Given the description of an element on the screen output the (x, y) to click on. 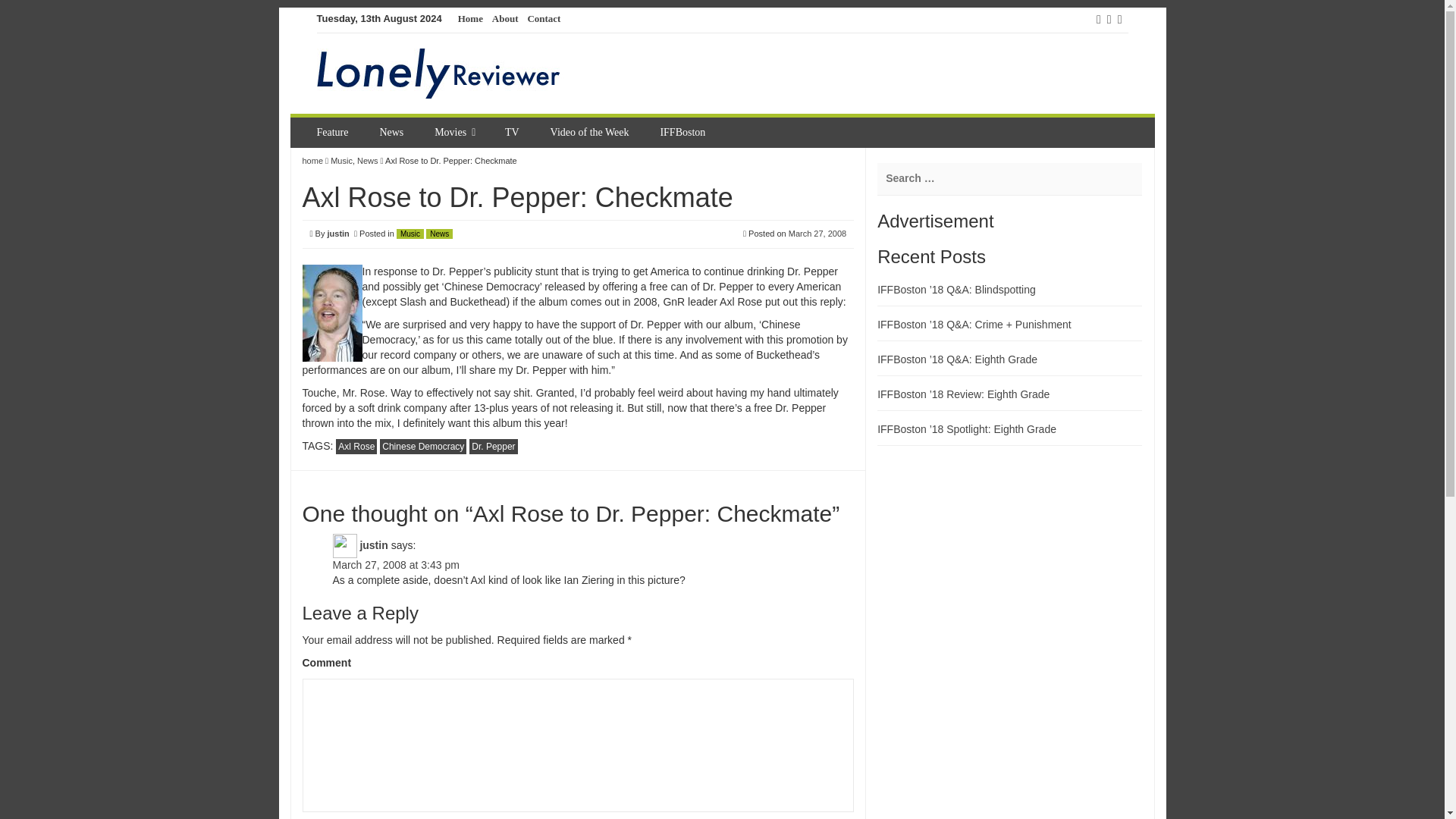
News (392, 132)
March 27, 2008 (817, 233)
justin (337, 233)
Axl Rose (356, 446)
Dr. Pepper (492, 446)
Video of the Week (591, 132)
March 27, 2008 at 3:43 pm (394, 564)
TV (514, 132)
home (312, 160)
